Given the description of an element on the screen output the (x, y) to click on. 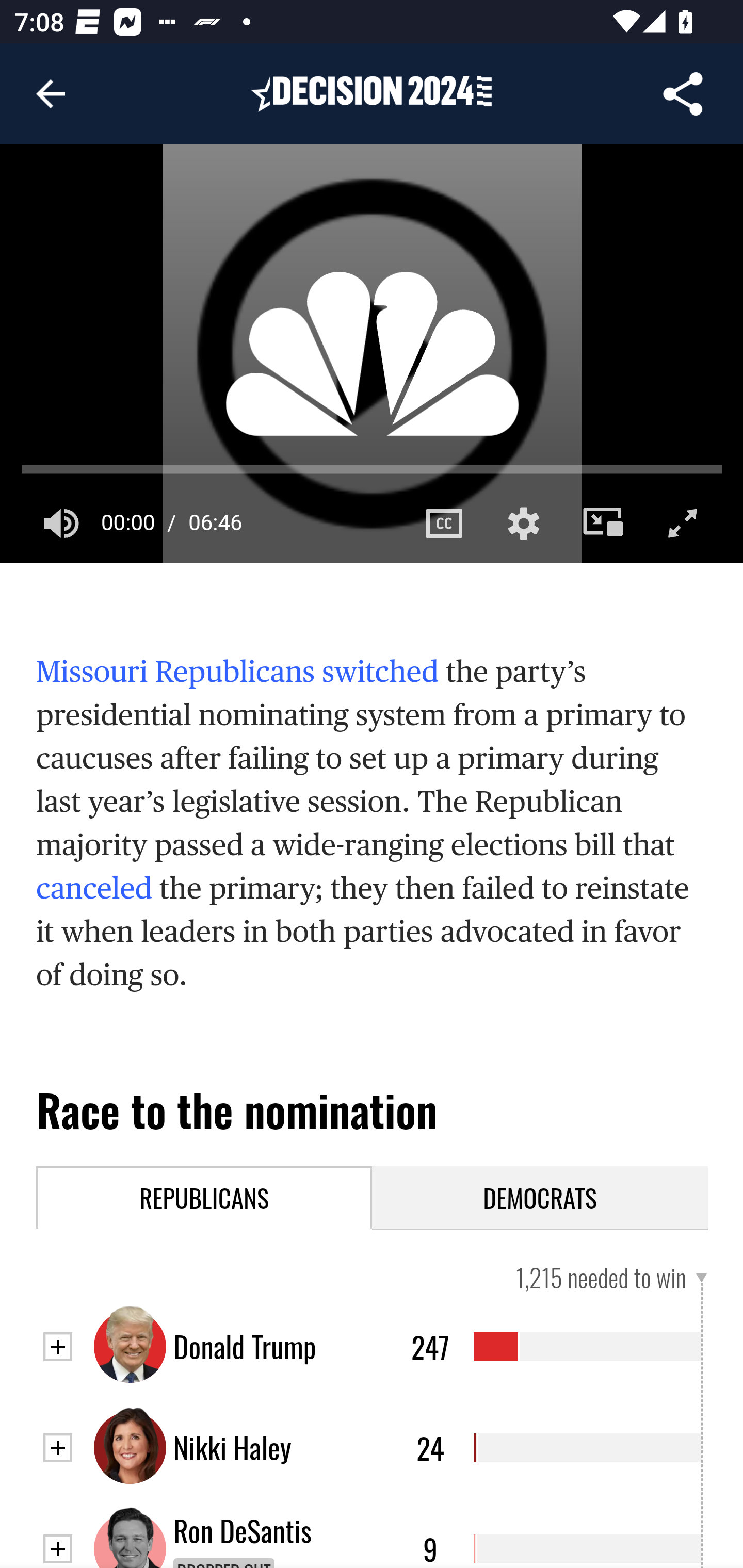
Navigate up (50, 93)
Share Article, button (683, 94)
Header, Decision 2024 (371, 93)
Volume (61, 522)
/ 06:46 (198, 522)
Closed Captions (443, 522)
Settings (523, 522)
Picture in Picture (PiP) (603, 522)
Fullscreen (682, 522)
Missouri Republicans switched (238, 671)
canceled (94, 888)
REPUBLICANS (204, 1196)
DEMOCRATS (540, 1196)
